Given the description of an element on the screen output the (x, y) to click on. 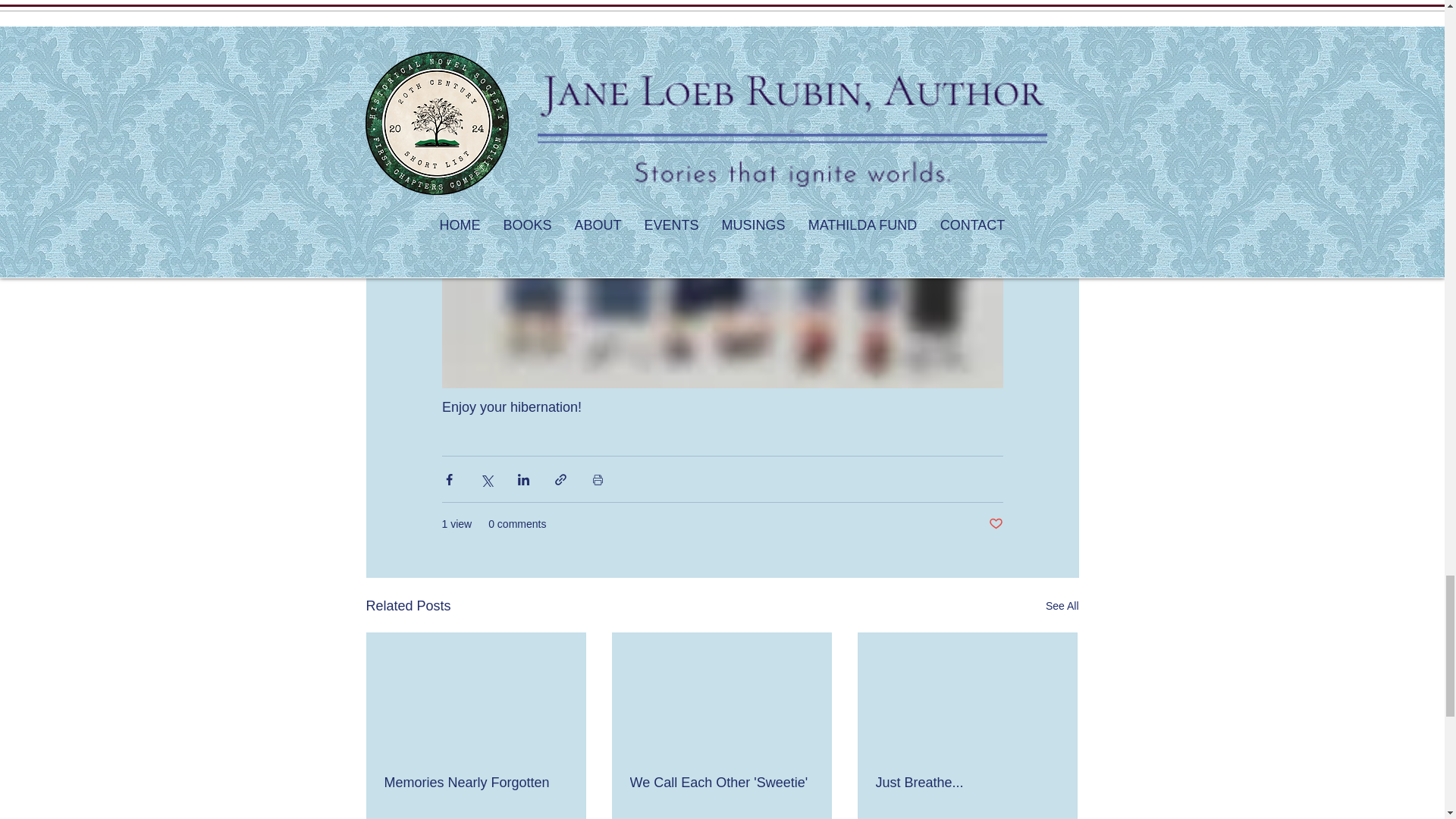
We Call Each Other 'Sweetie' (720, 782)
Just Breathe... (966, 782)
See All (1061, 606)
Post not marked as liked (995, 524)
Memories Nearly Forgotten  (475, 782)
